Given the description of an element on the screen output the (x, y) to click on. 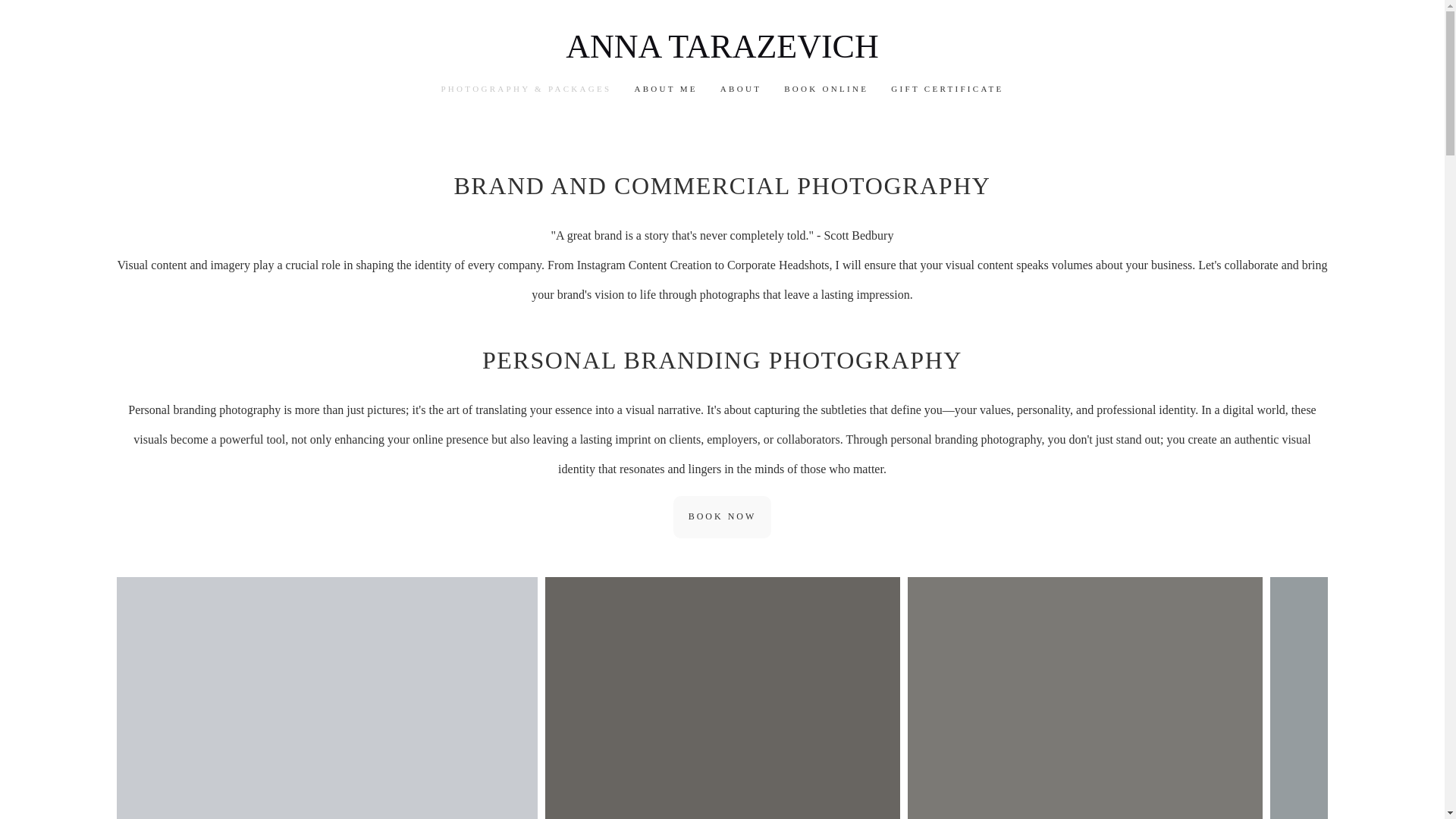
GIFT CERTIFICATE (947, 88)
ANNA TARAZEVICH (721, 46)
BOOK ONLINE (825, 88)
ABOUT (740, 88)
ABOUT ME (665, 88)
